Given the description of an element on the screen output the (x, y) to click on. 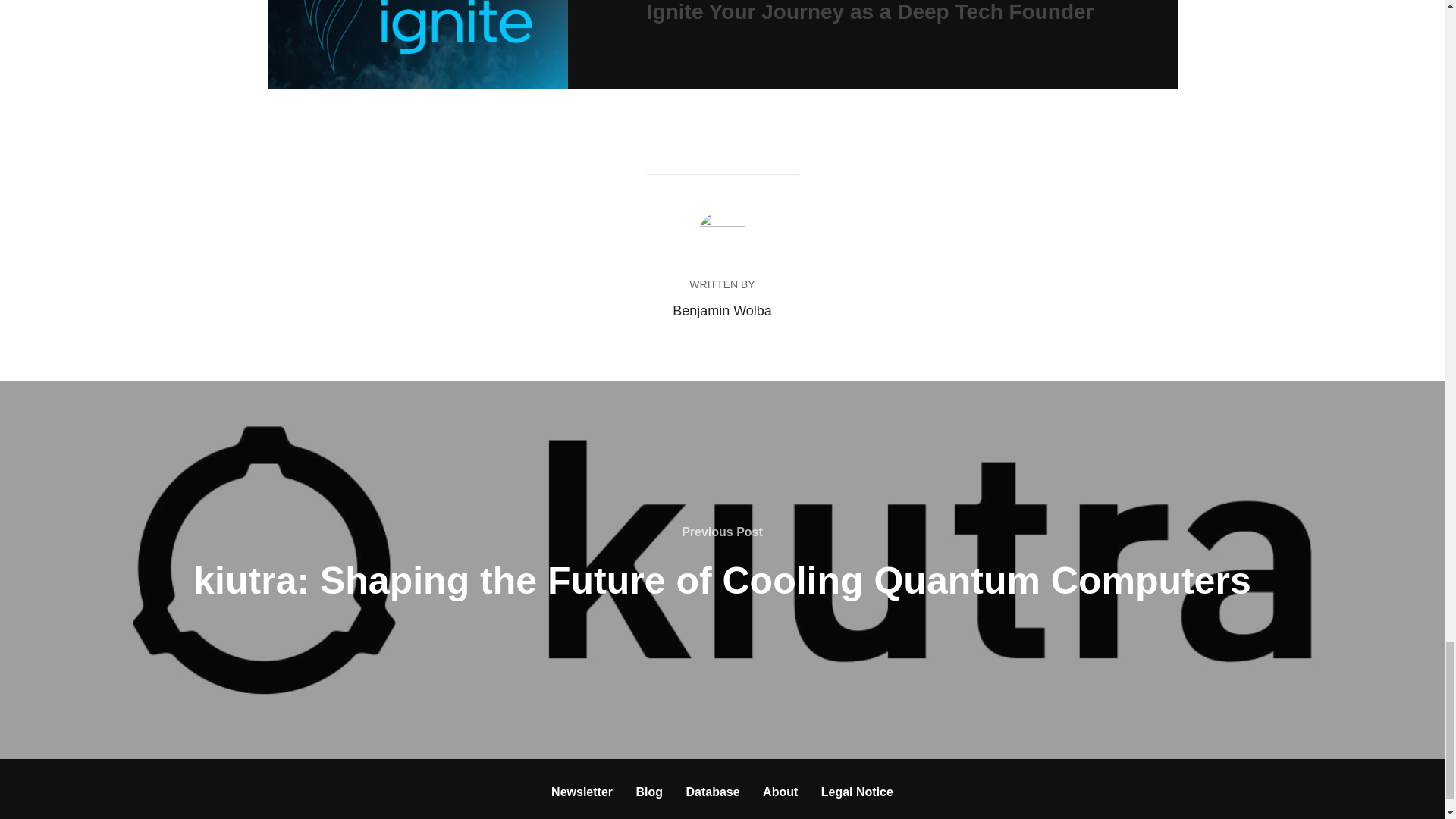
Posts by Benjamin Wolba (721, 310)
intel-ignite-header (416, 44)
